Given the description of an element on the screen output the (x, y) to click on. 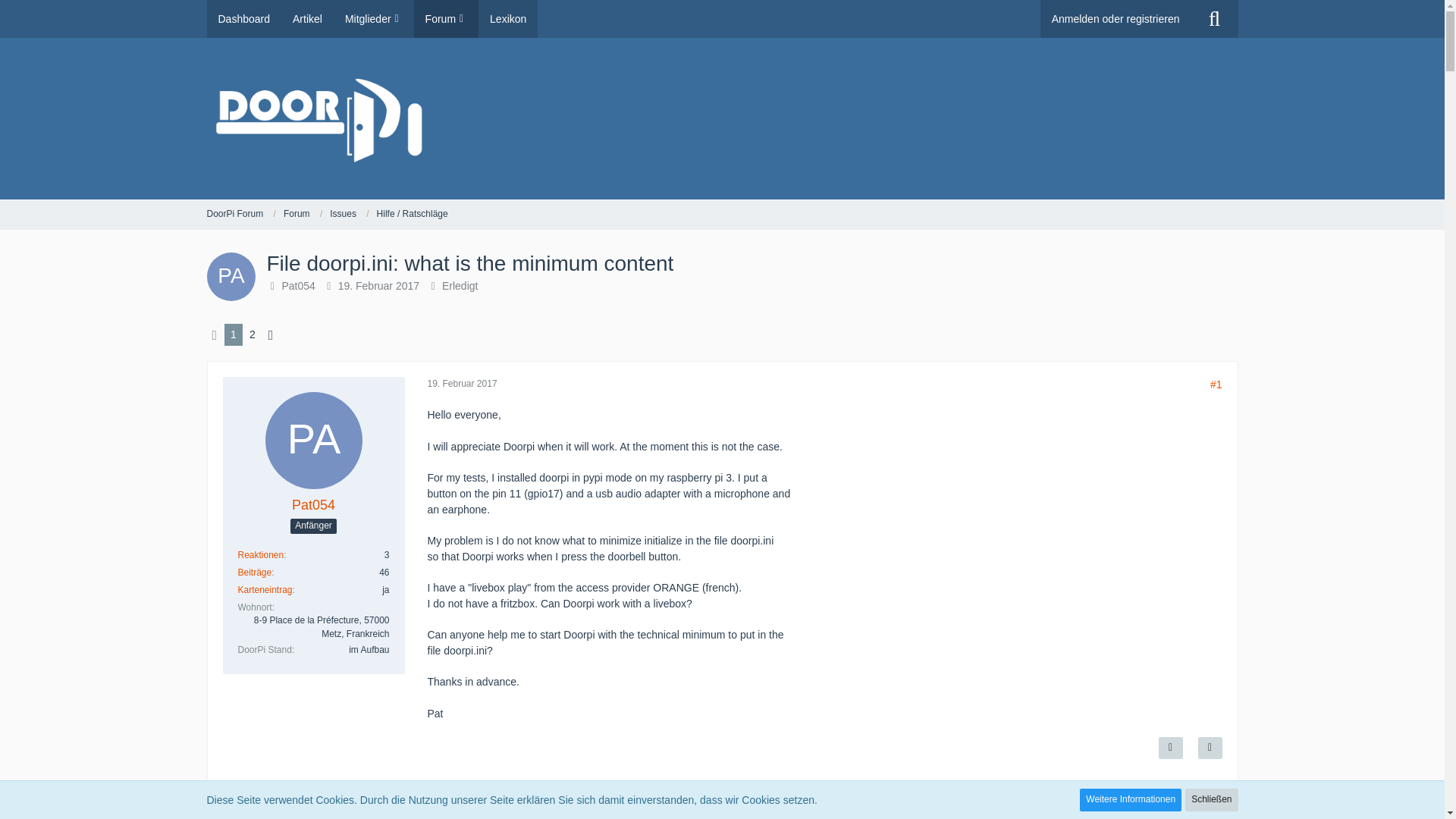
Dashboard (243, 18)
Mitglieder (373, 18)
19. Februar 2017 (462, 383)
Pat054 (297, 285)
Pat054 (313, 505)
Artikel (307, 18)
Anmelden oder registrieren (1116, 18)
19. Februar 2017, 12:46 (378, 285)
Forum (296, 213)
19. Februar 2017 (378, 285)
